Given the description of an element on the screen output the (x, y) to click on. 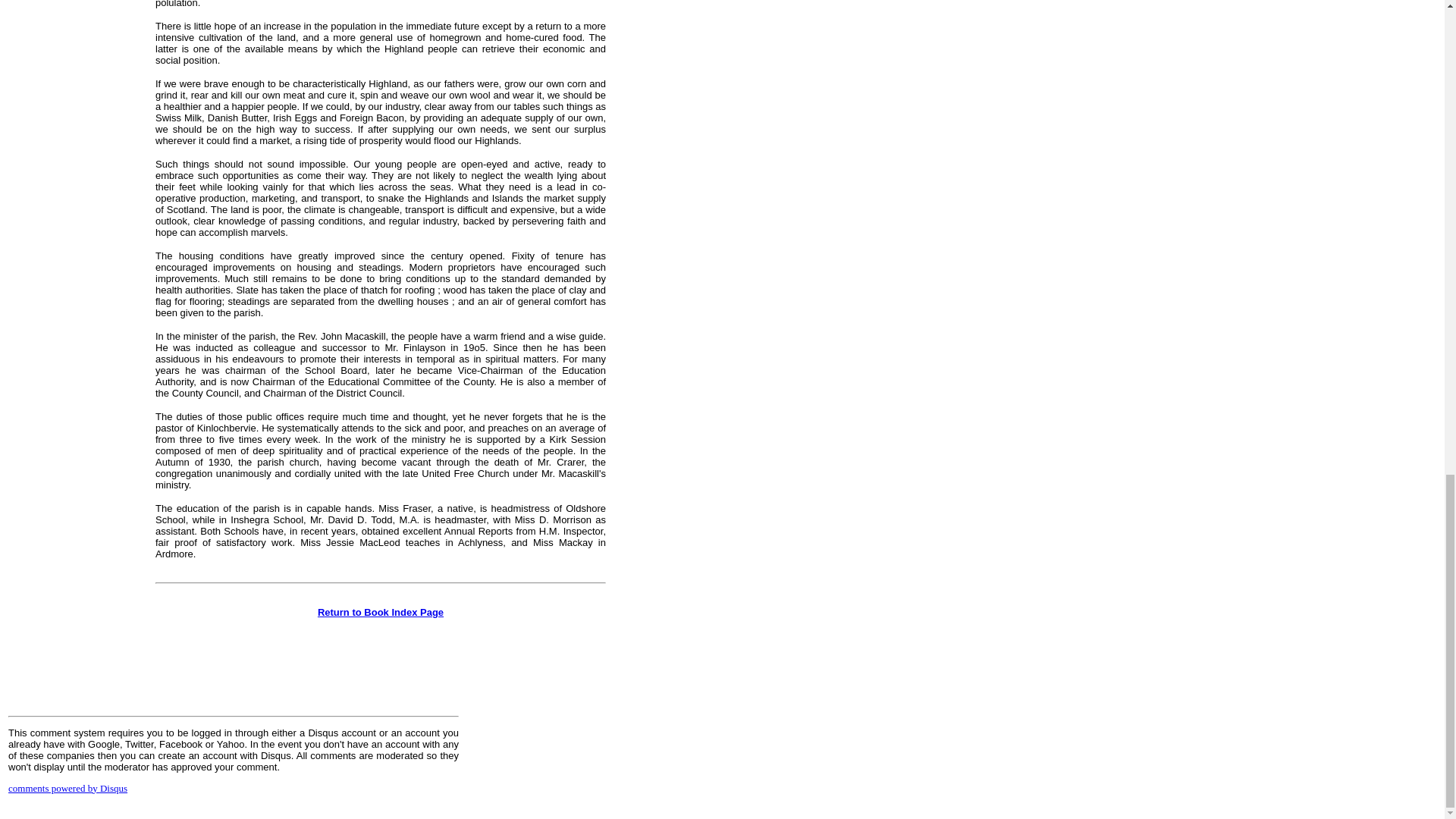
Return to Book Index Page (380, 612)
comments powered by Disqus (68, 787)
